Given the description of an element on the screen output the (x, y) to click on. 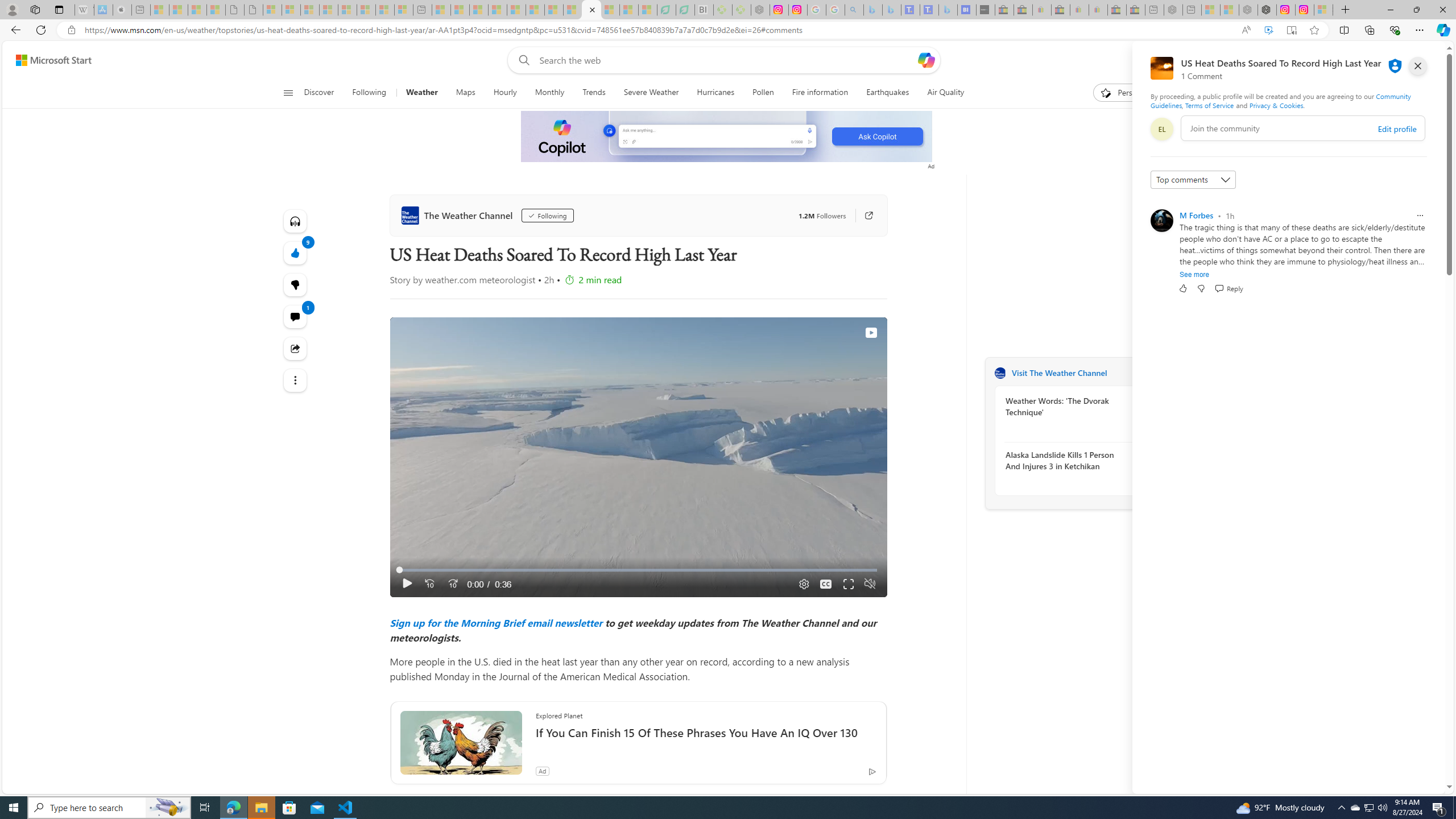
View comments 1 Comment (295, 316)
Profile Picture (1161, 220)
Pollen (763, 92)
Hurricanes (715, 92)
Community Guidelines (1280, 100)
Microsoft account | Account Checkup - Sleeping (403, 9)
9 Like (295, 252)
Hourly (504, 92)
